Given the description of an element on the screen output the (x, y) to click on. 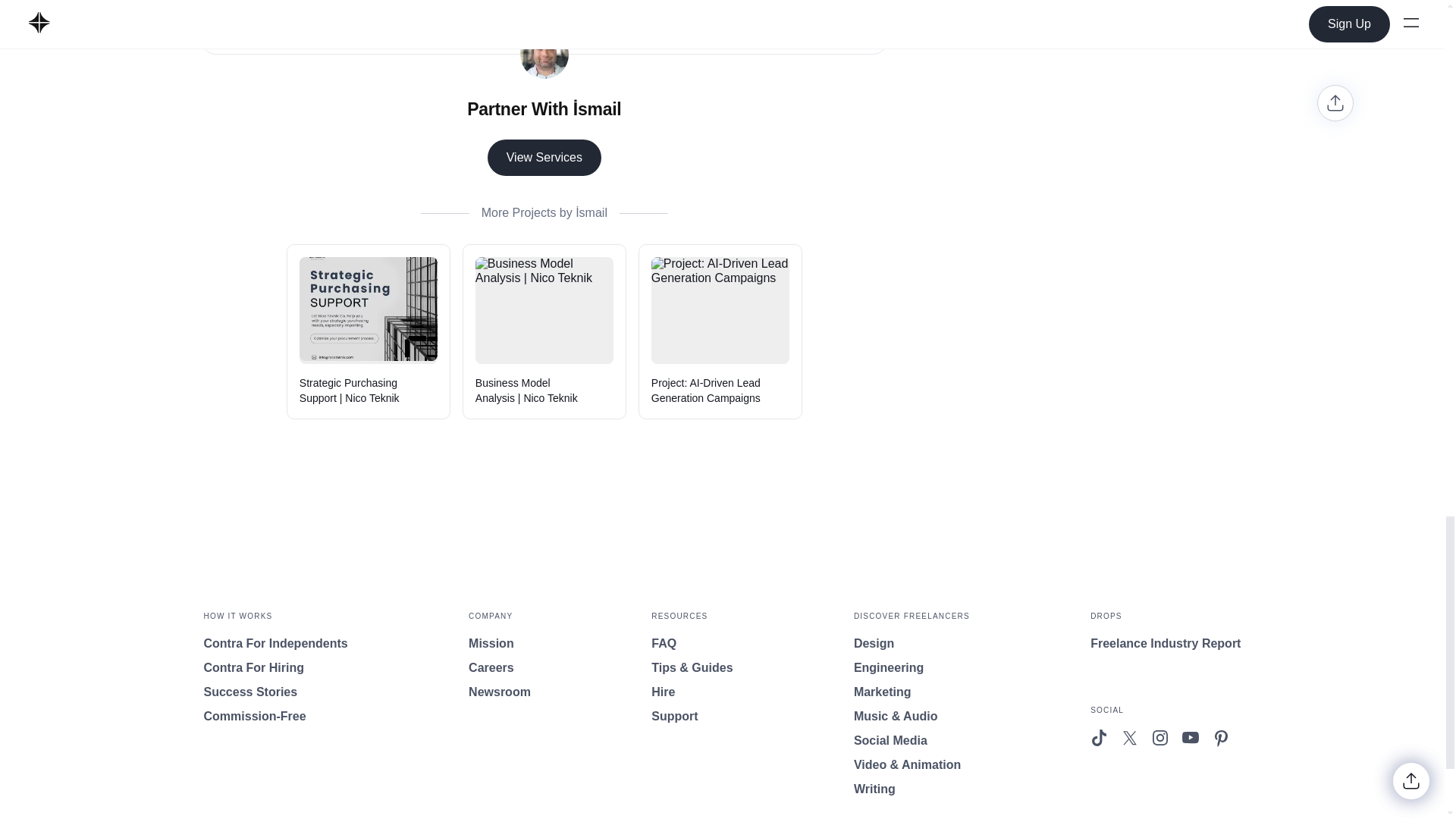
Commission-Free (275, 716)
Engineering (911, 668)
Contra For Independents (275, 643)
Marketing (911, 692)
Hire (691, 692)
Careers (499, 668)
FAQ (691, 643)
Mission (499, 643)
Success Stories (275, 692)
Contra For Hiring (275, 668)
